Given the description of an element on the screen output the (x, y) to click on. 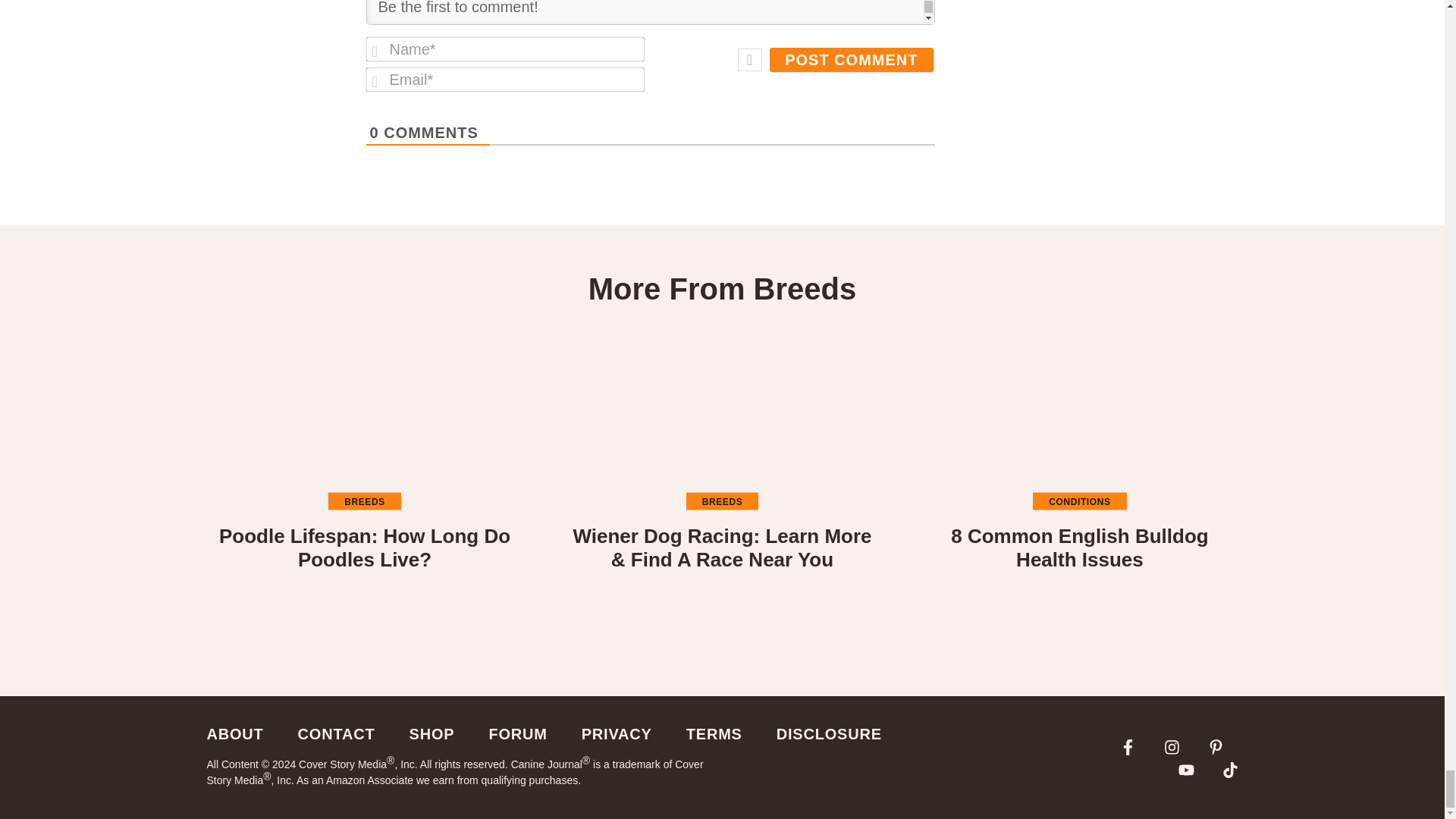
Post Comment (851, 59)
